Given the description of an element on the screen output the (x, y) to click on. 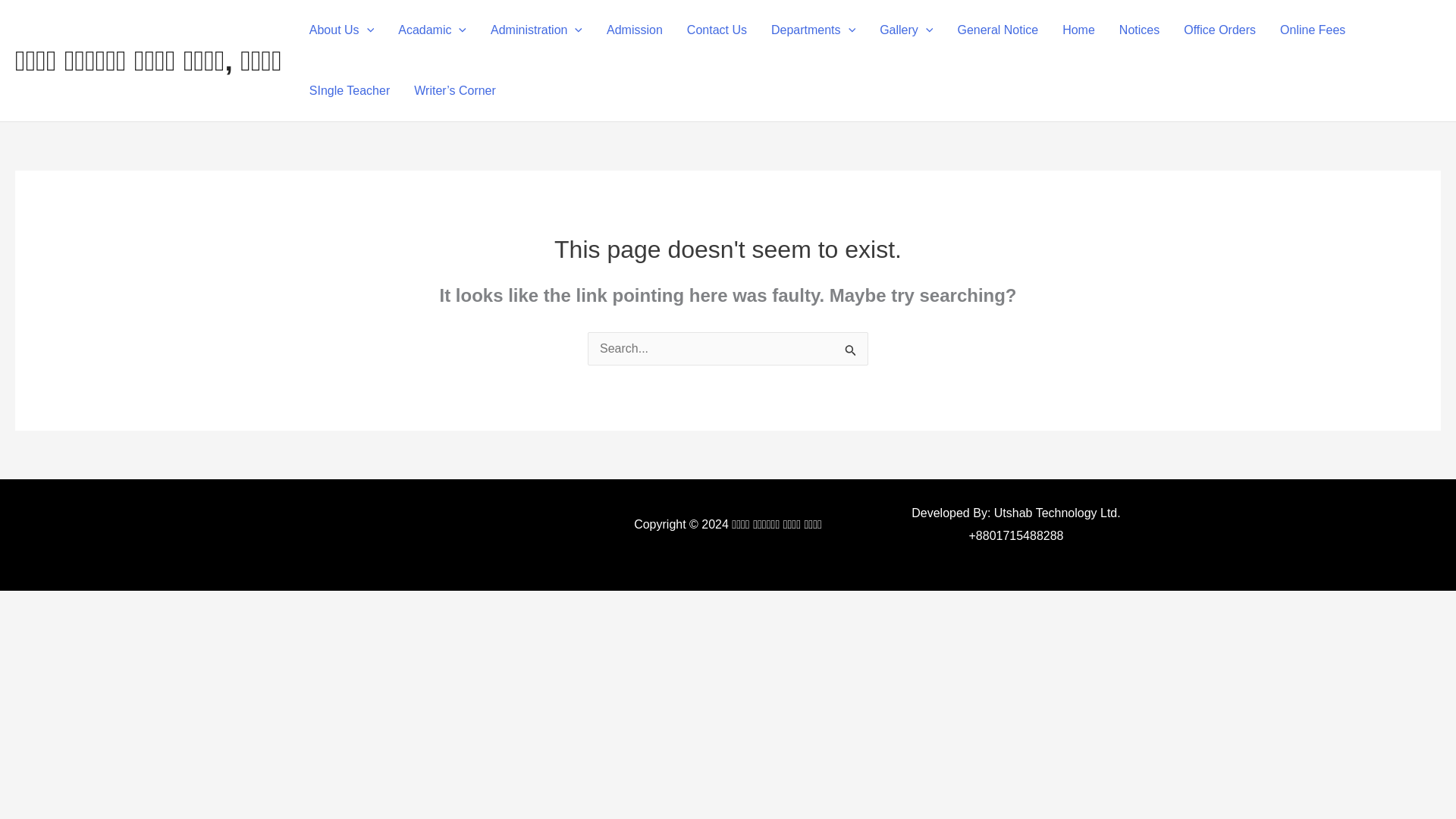
Admission (634, 30)
About Us (341, 30)
Acadamic (432, 30)
Administration (536, 30)
Departments (812, 30)
Contact Us (716, 30)
